Given the description of an element on the screen output the (x, y) to click on. 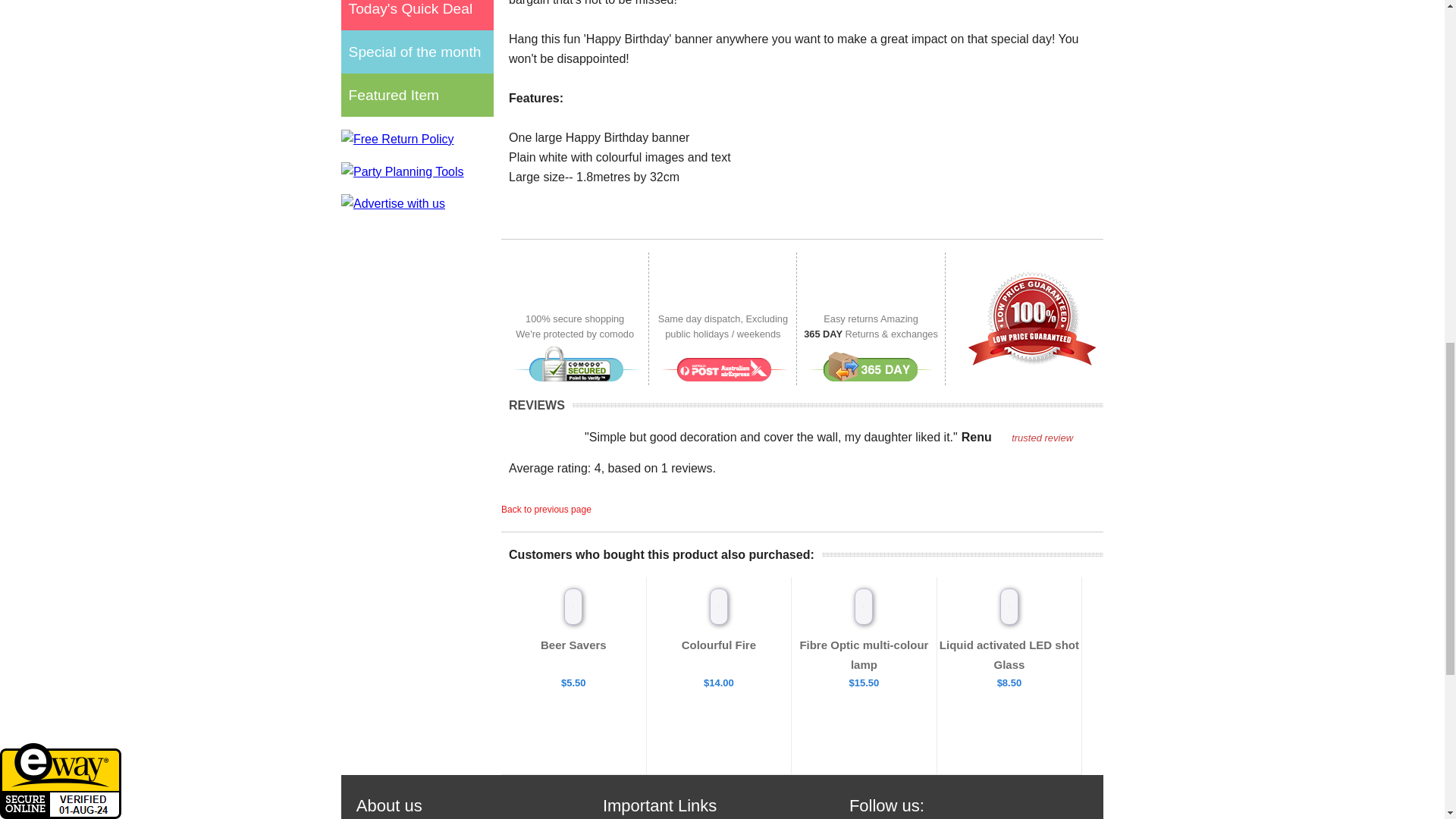
Liquid activated LED shot Glass (1008, 654)
Fibre Optic multi-colour lamp (863, 654)
Beer Savers (573, 644)
Back to previous page (545, 509)
Colourful Fire (718, 644)
